Given the description of an element on the screen output the (x, y) to click on. 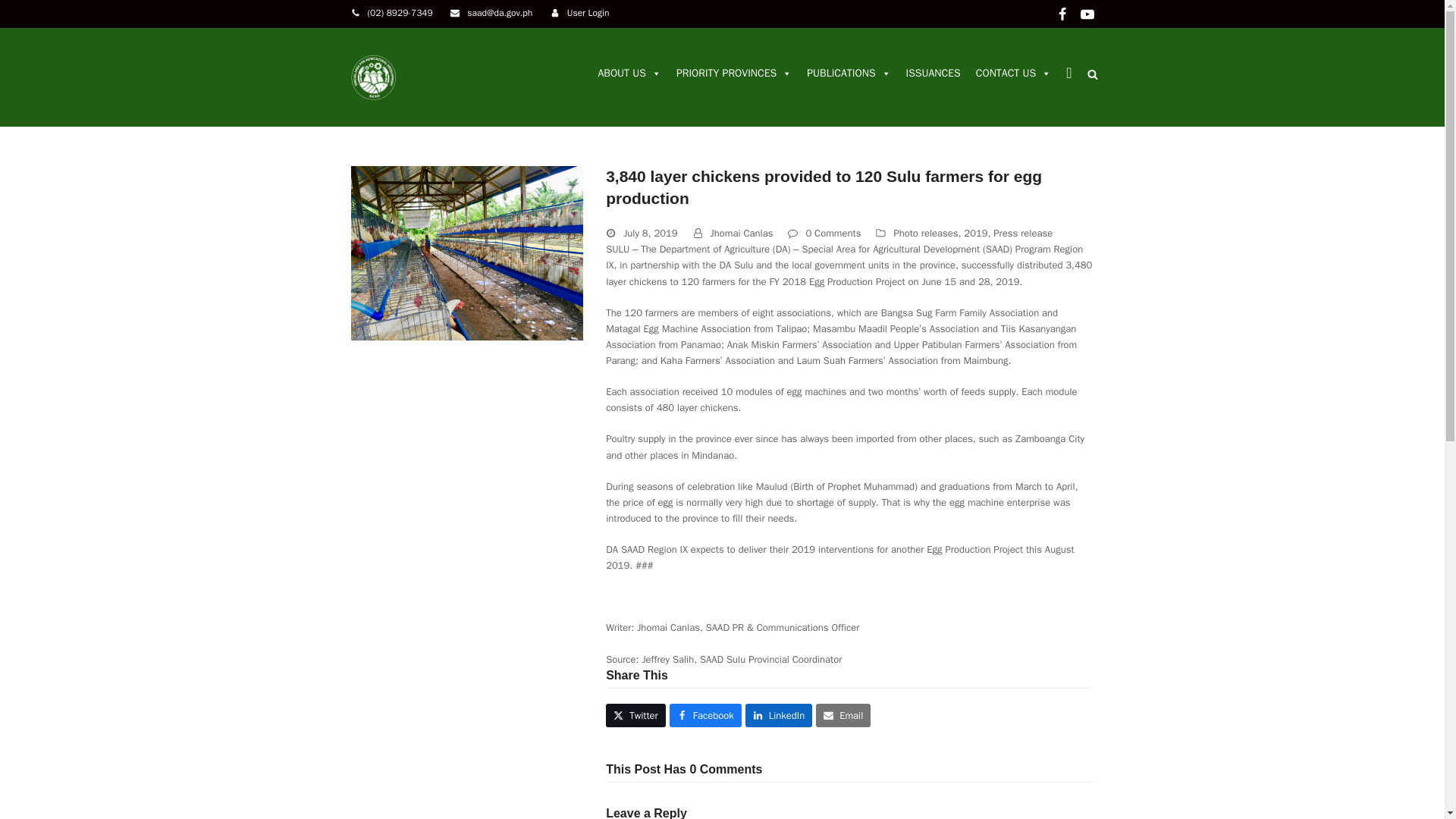
PUBLICATIONS (848, 73)
PRIORITY PROVINCES (733, 73)
ABOUT US (628, 73)
0 Comments (823, 232)
User Login (588, 13)
